Given the description of an element on the screen output the (x, y) to click on. 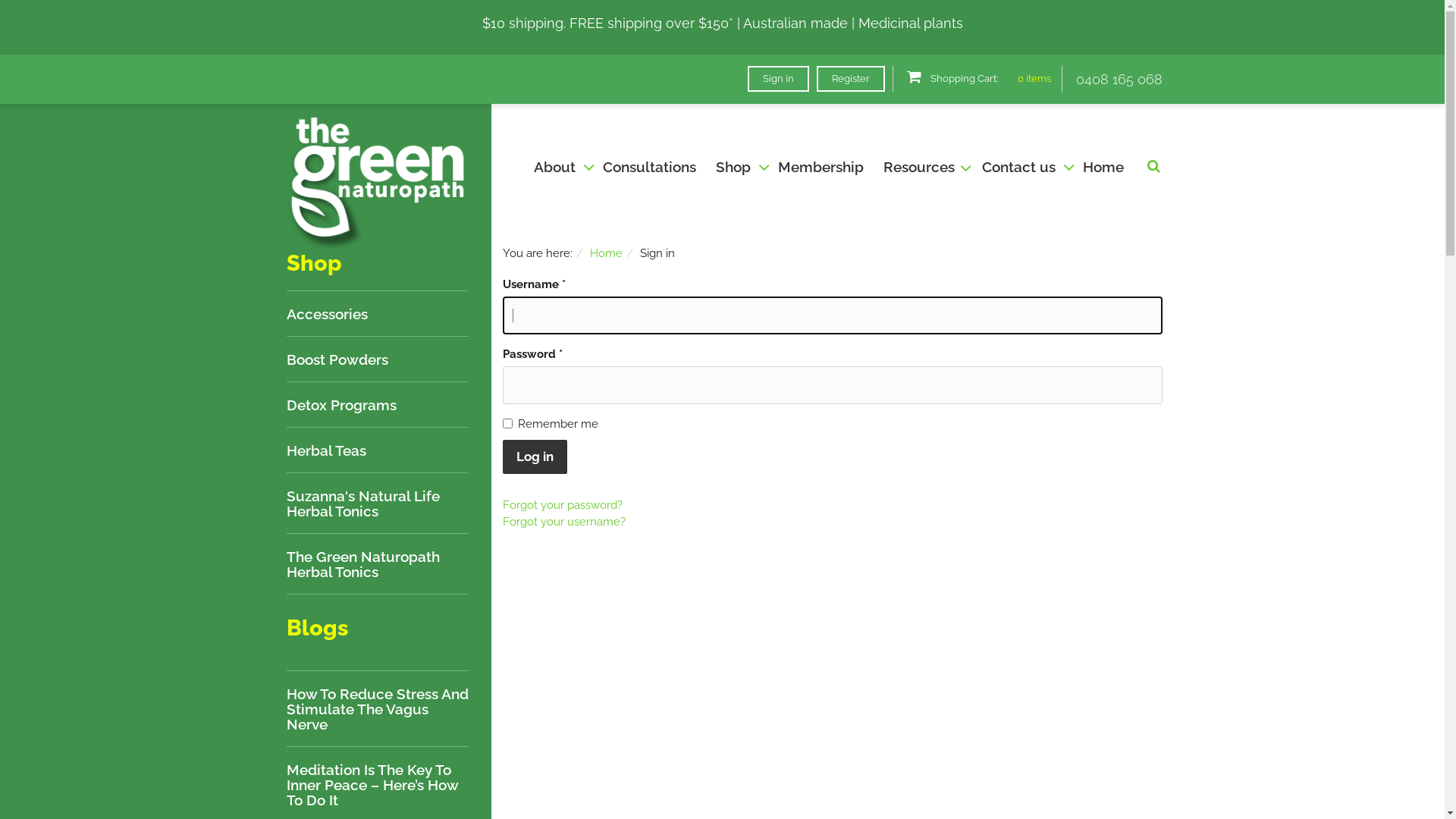
About Element type: text (558, 165)
Herbal Teas Element type: text (326, 450)
Forgot your password? Element type: text (562, 504)
0 items Element type: text (1034, 78)
Boost Powders Element type: text (337, 359)
Membership Element type: text (820, 165)
Home Element type: text (1102, 165)
How To Reduce Stress And Stimulate The Vagus Nerve Element type: text (377, 708)
Detox Programs Element type: text (341, 404)
Suzanna'S Natural Life Herbal Tonics Element type: text (377, 503)
Log in Element type: text (534, 456)
Contact us Element type: text (1022, 165)
0408 165 068 Element type: text (1119, 78)
Home Element type: text (605, 252)
The Green Naturopath Herbal Tonics Element type: text (377, 564)
Register Element type: text (850, 78)
Sign in Element type: text (778, 78)
Forgot your username? Element type: text (563, 520)
Consultations Element type: text (649, 165)
Shop Element type: text (736, 165)
Accessories Element type: text (326, 313)
